Given the description of an element on the screen output the (x, y) to click on. 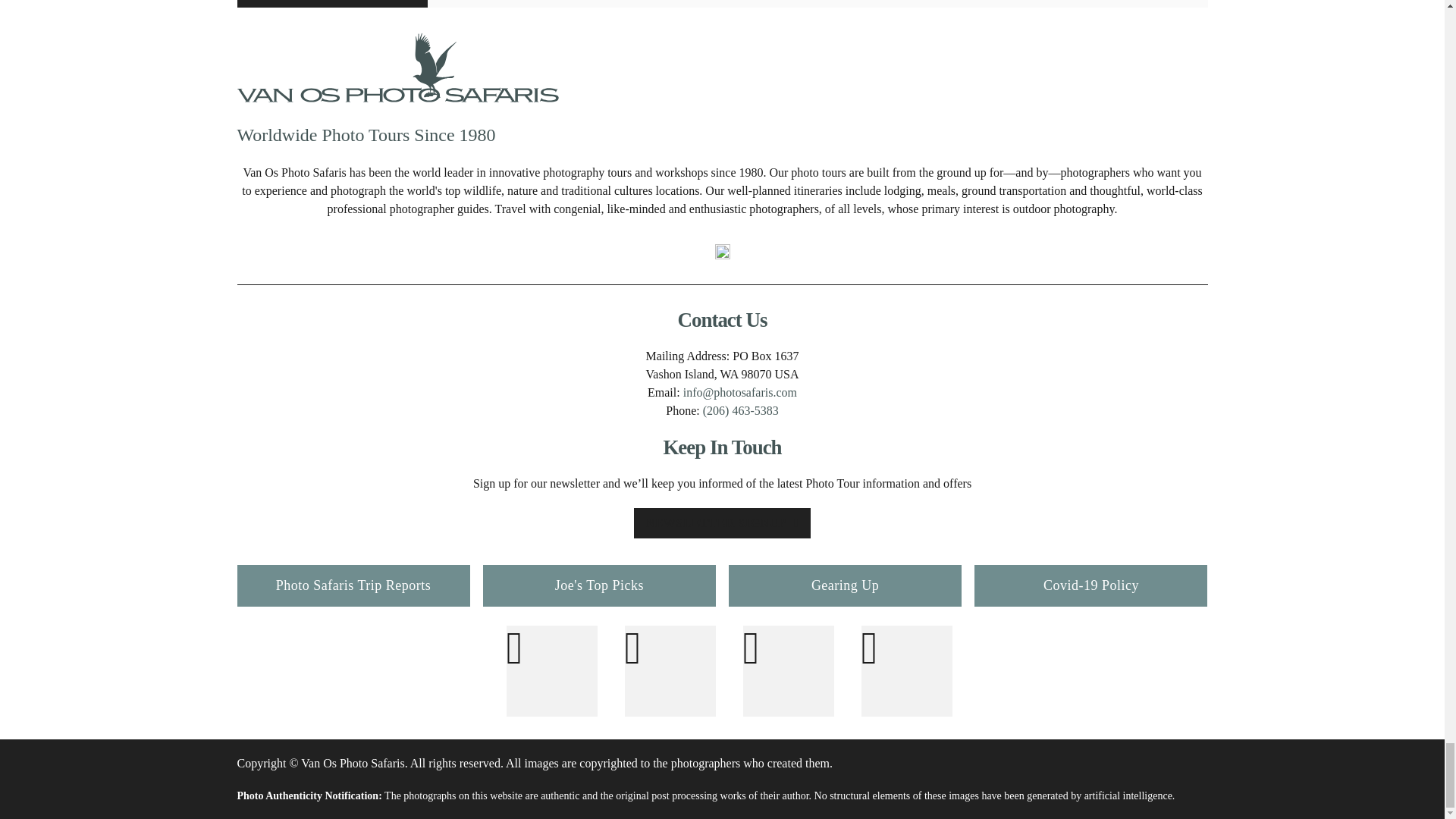
Facebook (551, 670)
Instagram (670, 670)
LinkedIn (906, 670)
YouTube (788, 670)
